Given the description of an element on the screen output the (x, y) to click on. 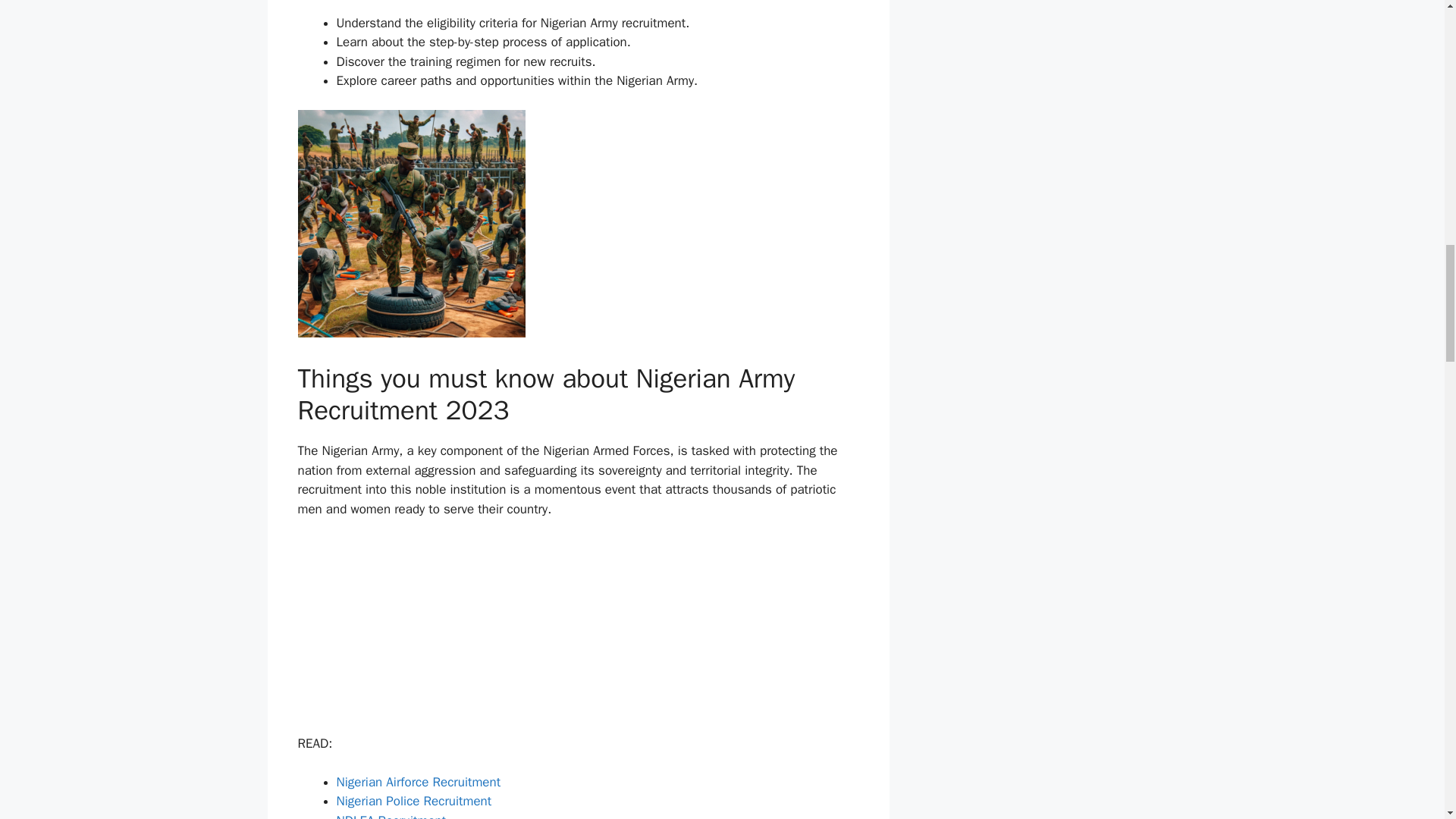
NDLEA Recruitment (391, 816)
Nigerian Airforce Recruitment (418, 781)
Nigerian Police Recruitment (414, 801)
